Given the description of an element on the screen output the (x, y) to click on. 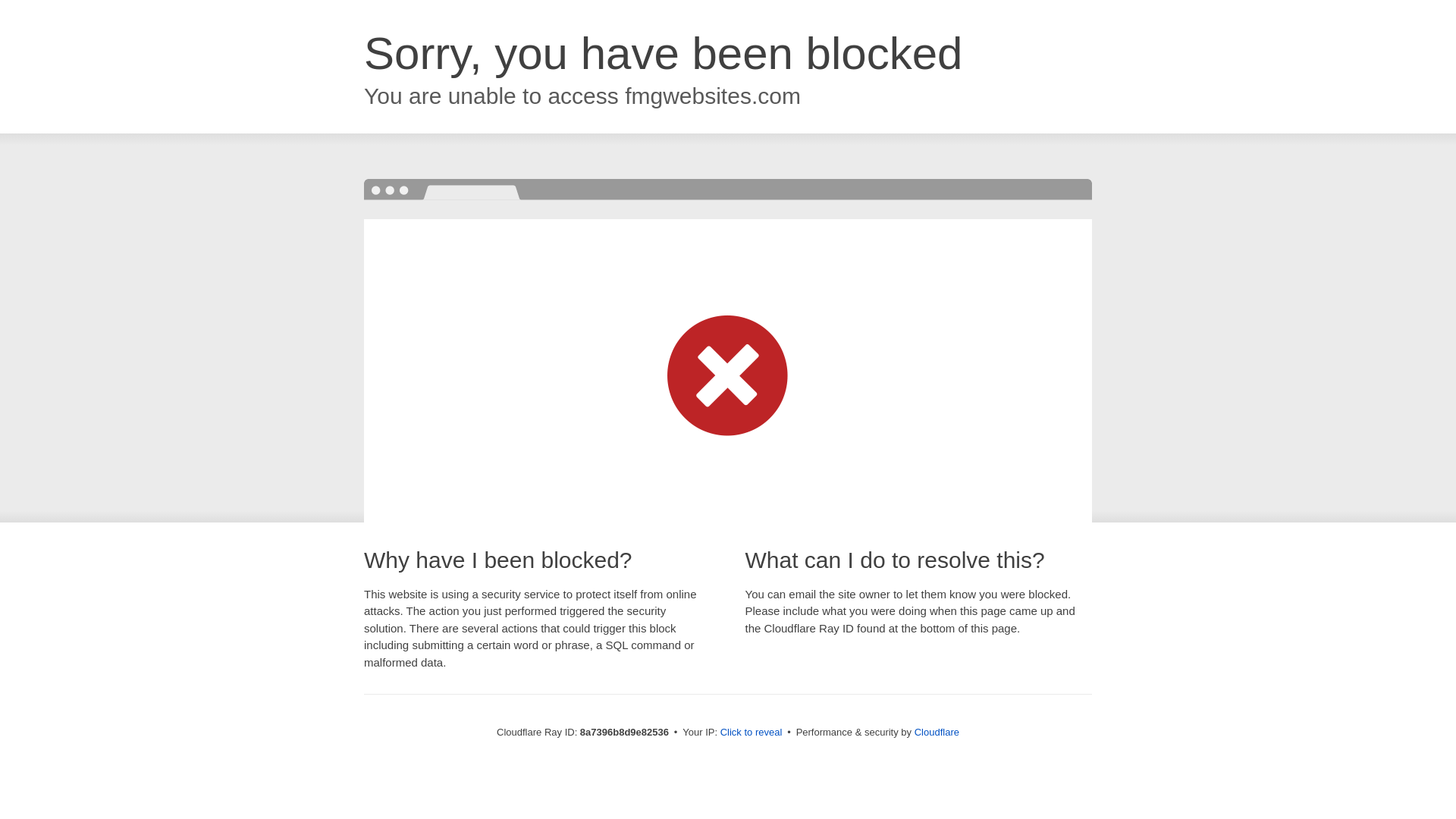
Cloudflare (936, 731)
Click to reveal (751, 732)
